Given the description of an element on the screen output the (x, y) to click on. 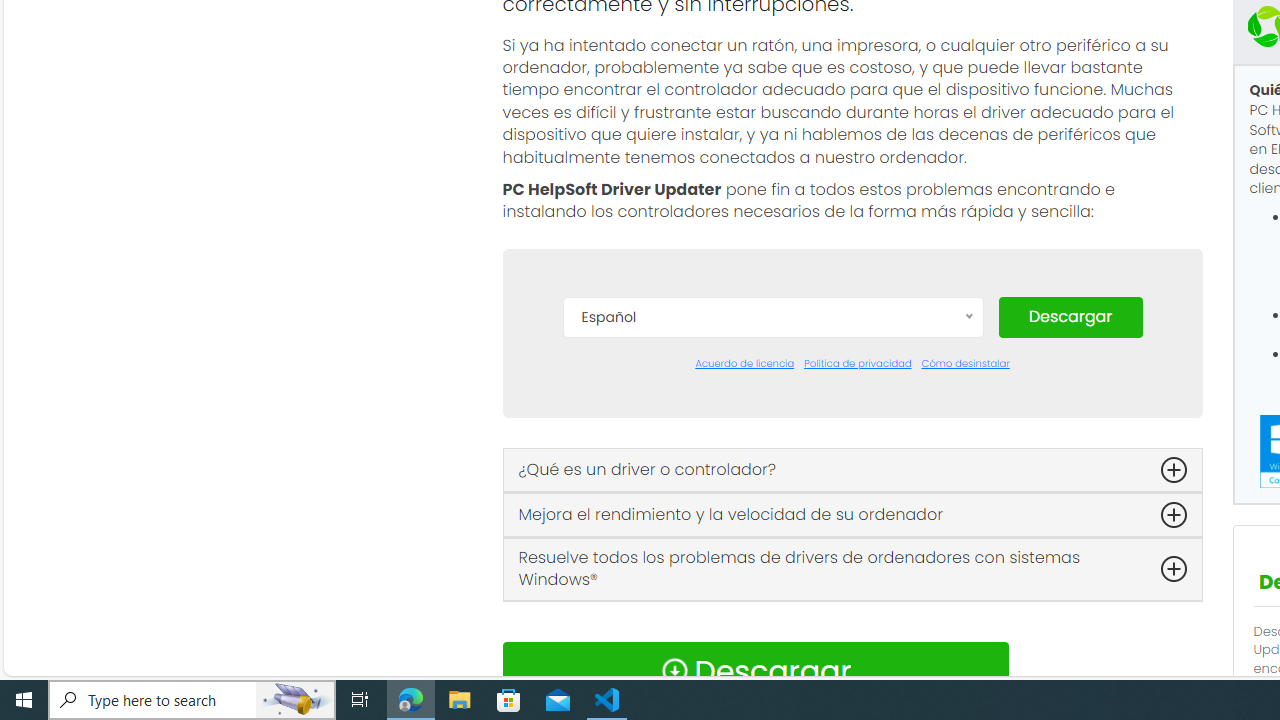
Descargar (1070, 316)
Dansk (772, 411)
Norsk (772, 652)
Download Icon Descargar (754, 670)
Italiano (772, 591)
Acuerdo de licencia (744, 363)
English (772, 501)
Download Icon (674, 670)
Nederlands (772, 621)
Deutsch (772, 472)
